Given the description of an element on the screen output the (x, y) to click on. 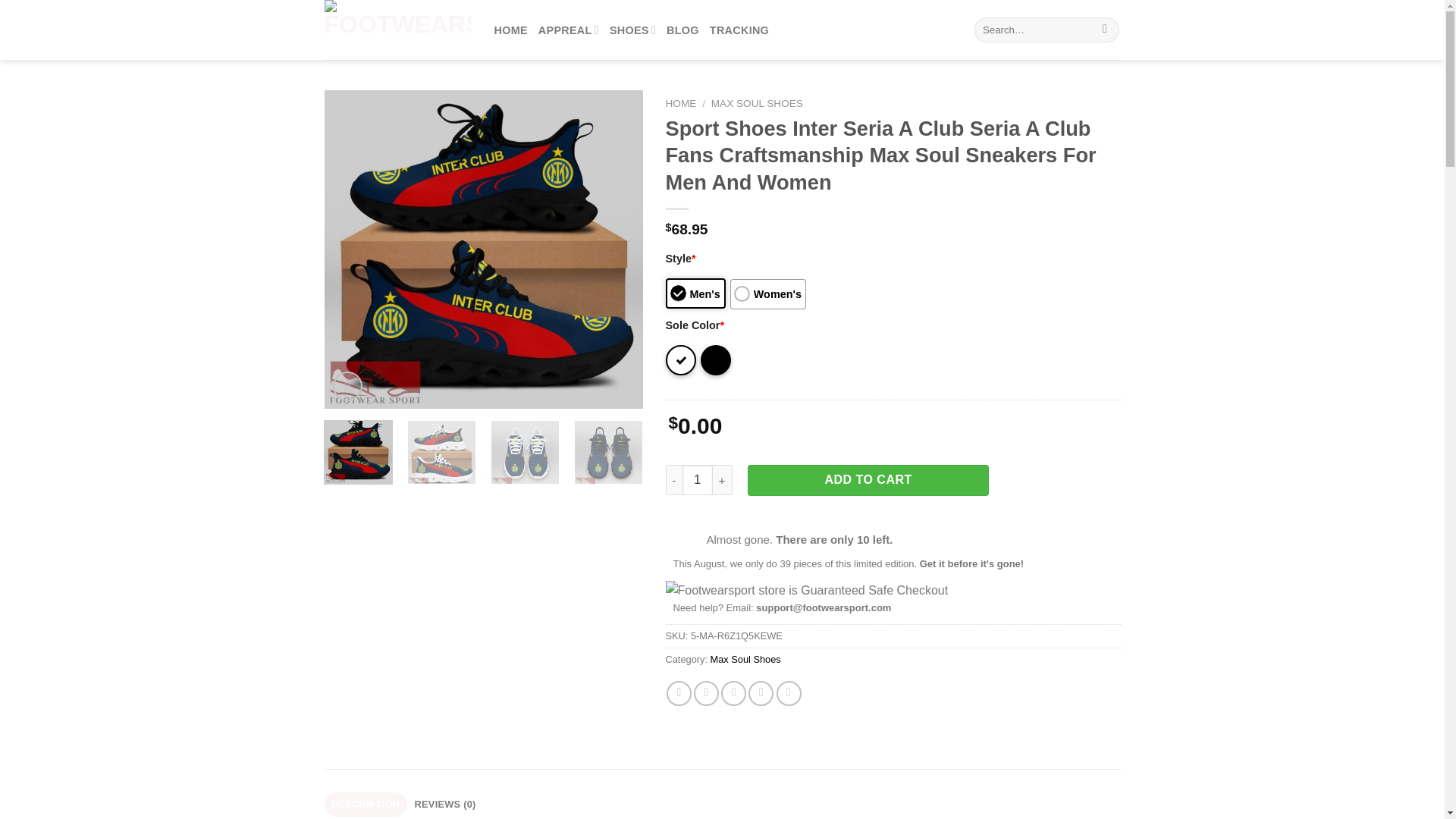
HOME (681, 102)
ADD TO CART (868, 480)
Women's (768, 294)
TRACKING (739, 30)
1 (697, 480)
SHOES (633, 30)
Max Soul Shoes (745, 659)
Men's (695, 293)
Search (1105, 30)
Footwearsport (397, 29)
